Given the description of an element on the screen output the (x, y) to click on. 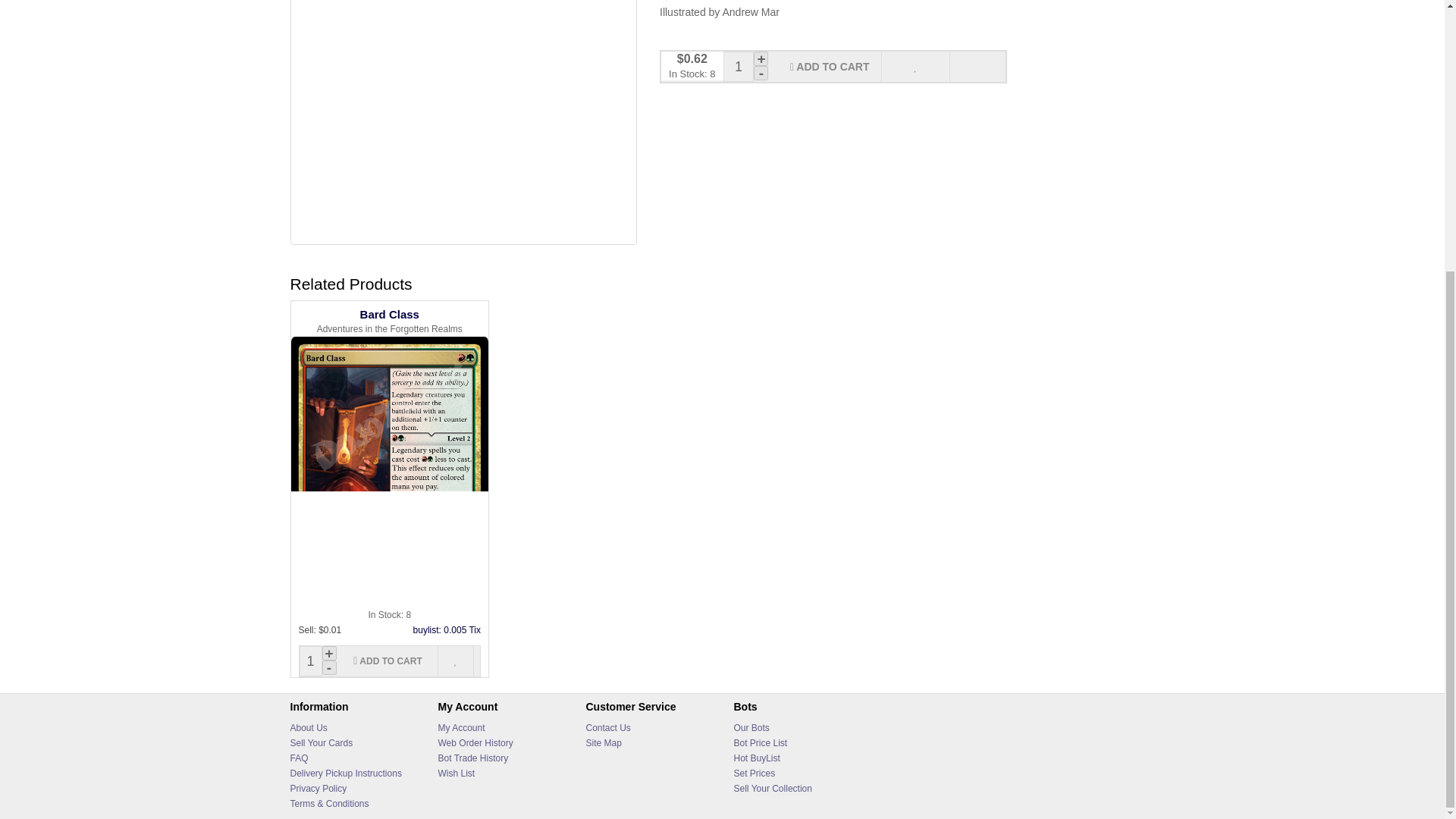
Add to Wish List (915, 66)
Add to Wish List (456, 661)
FAQ (298, 757)
ADD TO CART (387, 661)
Privacy Policy (317, 787)
1 (738, 66)
- (761, 73)
Bard Class FOIL (463, 122)
Delivery Pickup Instructions (345, 773)
Bard Class FOIL (463, 120)
